Given the description of an element on the screen output the (x, y) to click on. 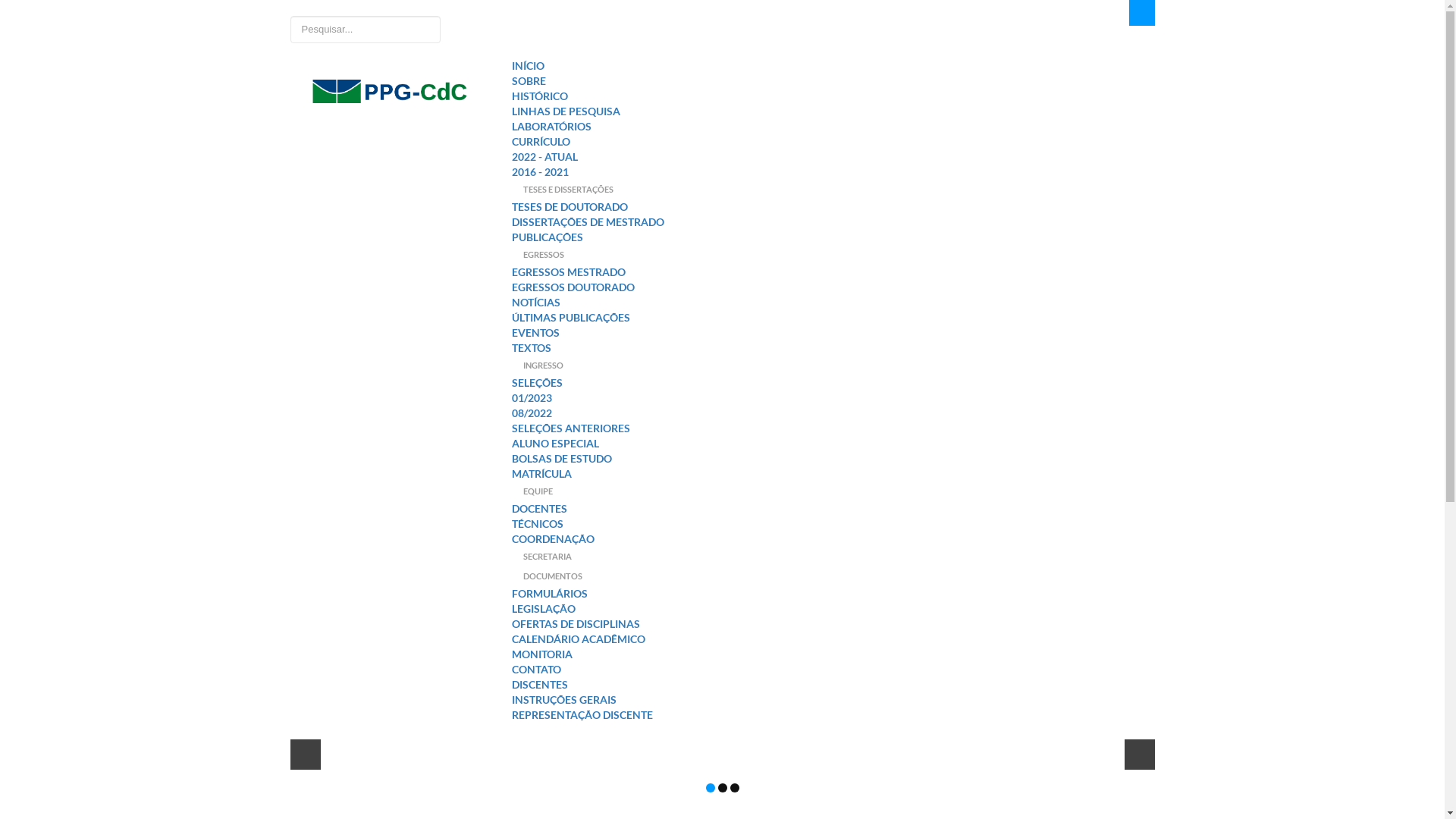
TEXTOS Element type: text (531, 347)
2016 - 2021 Element type: text (539, 171)
LINHAS DE PESQUISA Element type: text (565, 110)
EGRESSOS MESTRADO Element type: text (568, 271)
01/2023 Element type: text (531, 397)
MONITORIA Element type: text (541, 653)
EGRESSOS DOUTORADO Element type: text (572, 286)
08/2022 Element type: text (531, 412)
OFERTAS DE DISCIPLINAS Element type: text (575, 623)
DISCENTES Element type: text (832, 684)
DOCENTES Element type: text (539, 508)
EVENTOS Element type: text (535, 332)
CONTATO Element type: text (832, 669)
ALUNO ESPECIAL Element type: text (555, 442)
TESES DE DOUTORADO Element type: text (569, 206)
Next Element type: text (1138, 753)
SOBRE Element type: text (832, 80)
BOLSAS DE ESTUDO Element type: text (561, 457)
2022 - ATUAL Element type: text (544, 156)
Previous Element type: text (304, 753)
